Given the description of an element on the screen output the (x, y) to click on. 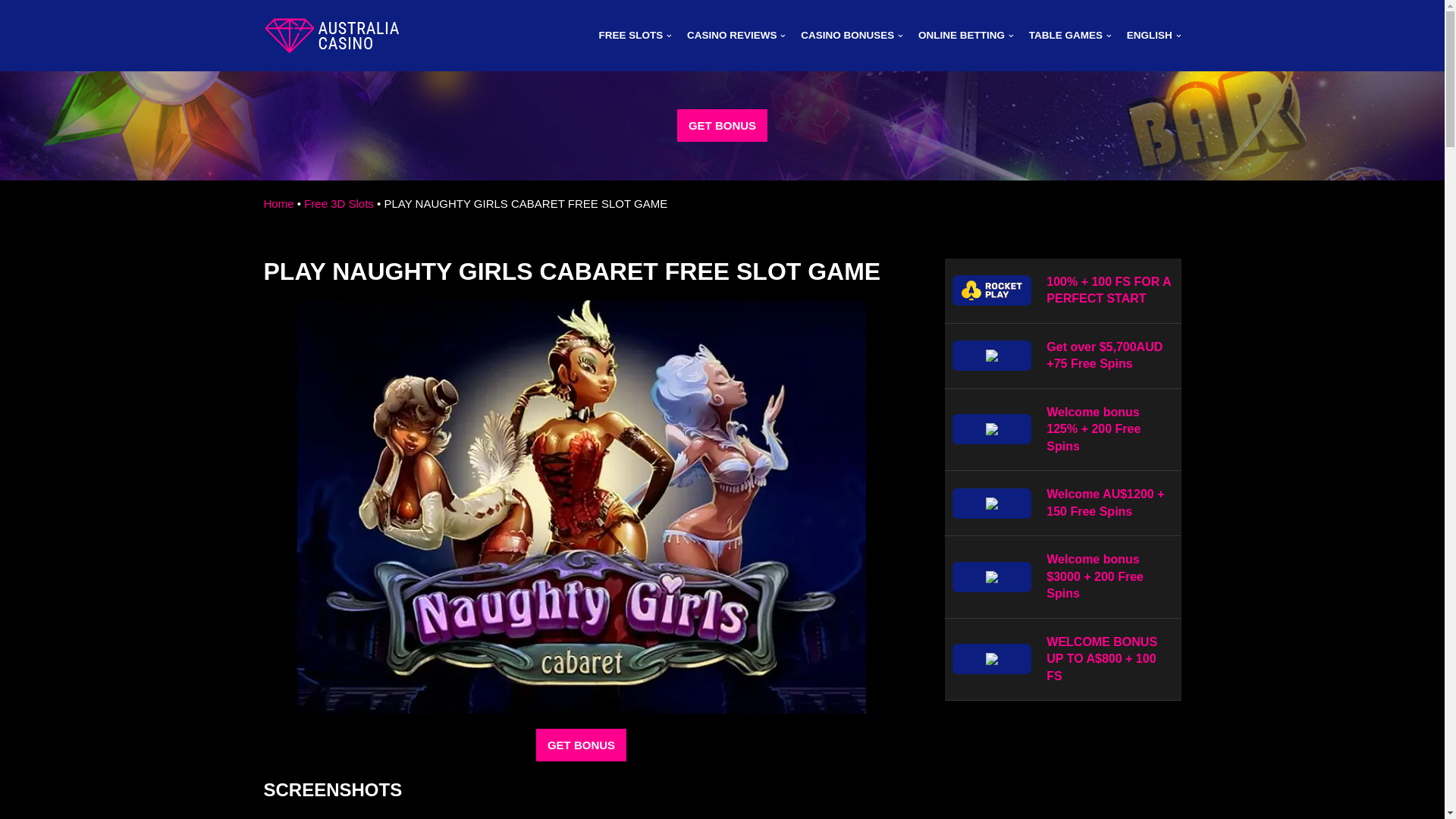
Skip to content (11, 31)
FREE SLOTS (634, 35)
CASINO REVIEWS (736, 35)
CASINO BONUSES (851, 35)
australia-casino-review.com (331, 35)
English (1153, 35)
